Given the description of an element on the screen output the (x, y) to click on. 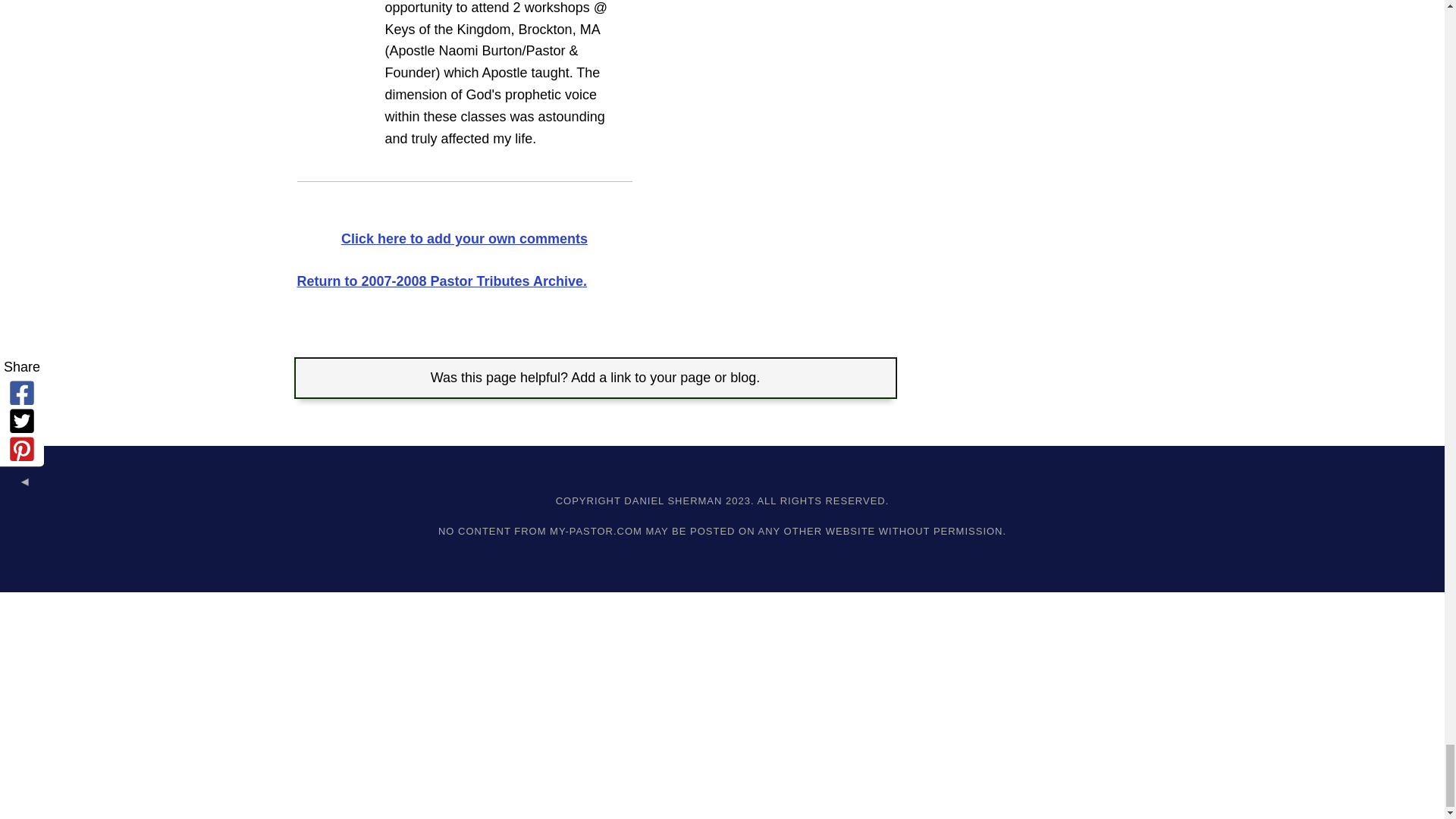
Return to 2007-2008 Pastor Tributes Archive. (441, 281)
Click here to add your own comments (464, 238)
